Given the description of an element on the screen output the (x, y) to click on. 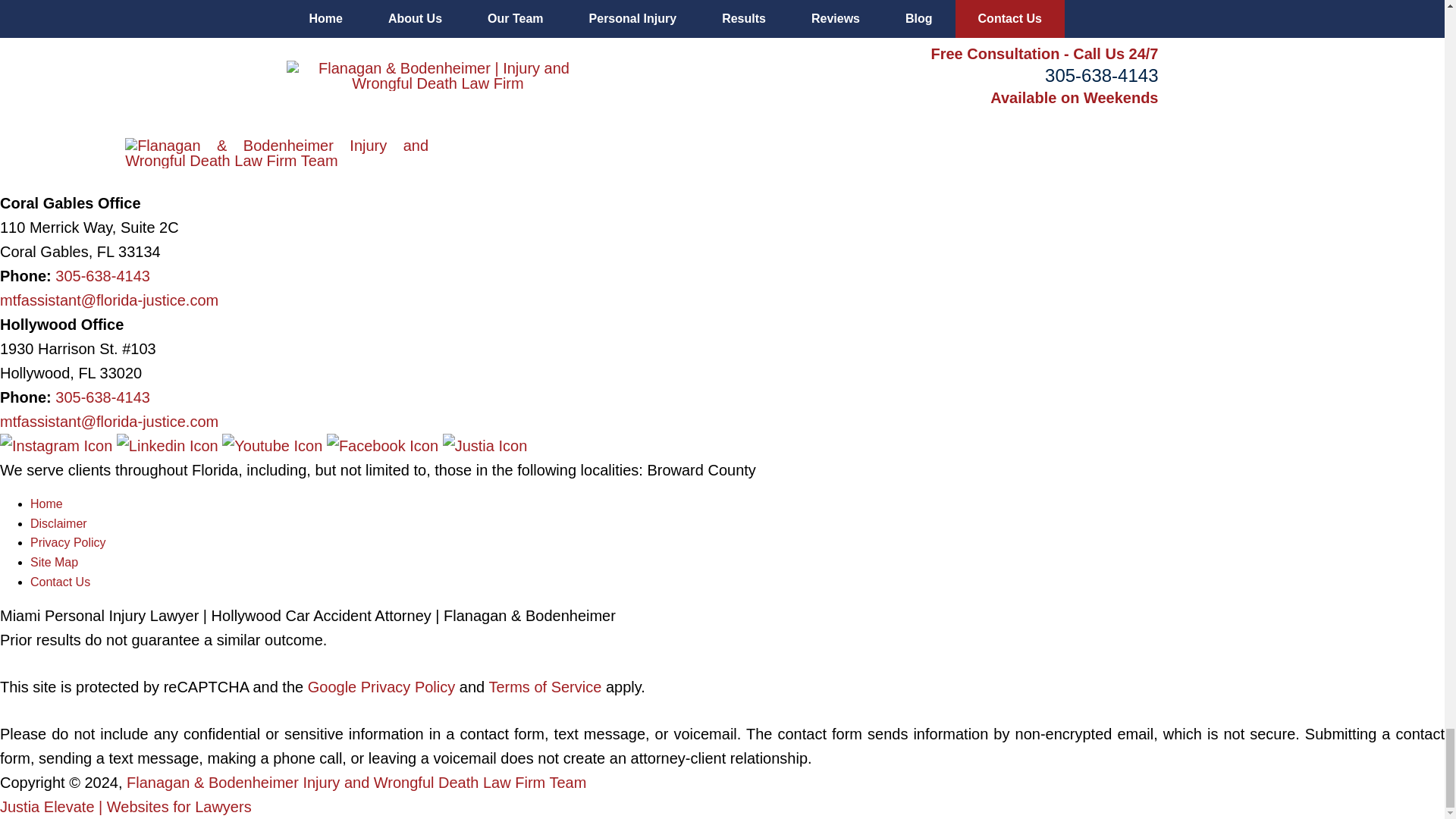
Linkedin (169, 445)
Youtube (274, 445)
Instagram (58, 445)
Facebook (384, 445)
Justia (484, 445)
